Given the description of an element on the screen output the (x, y) to click on. 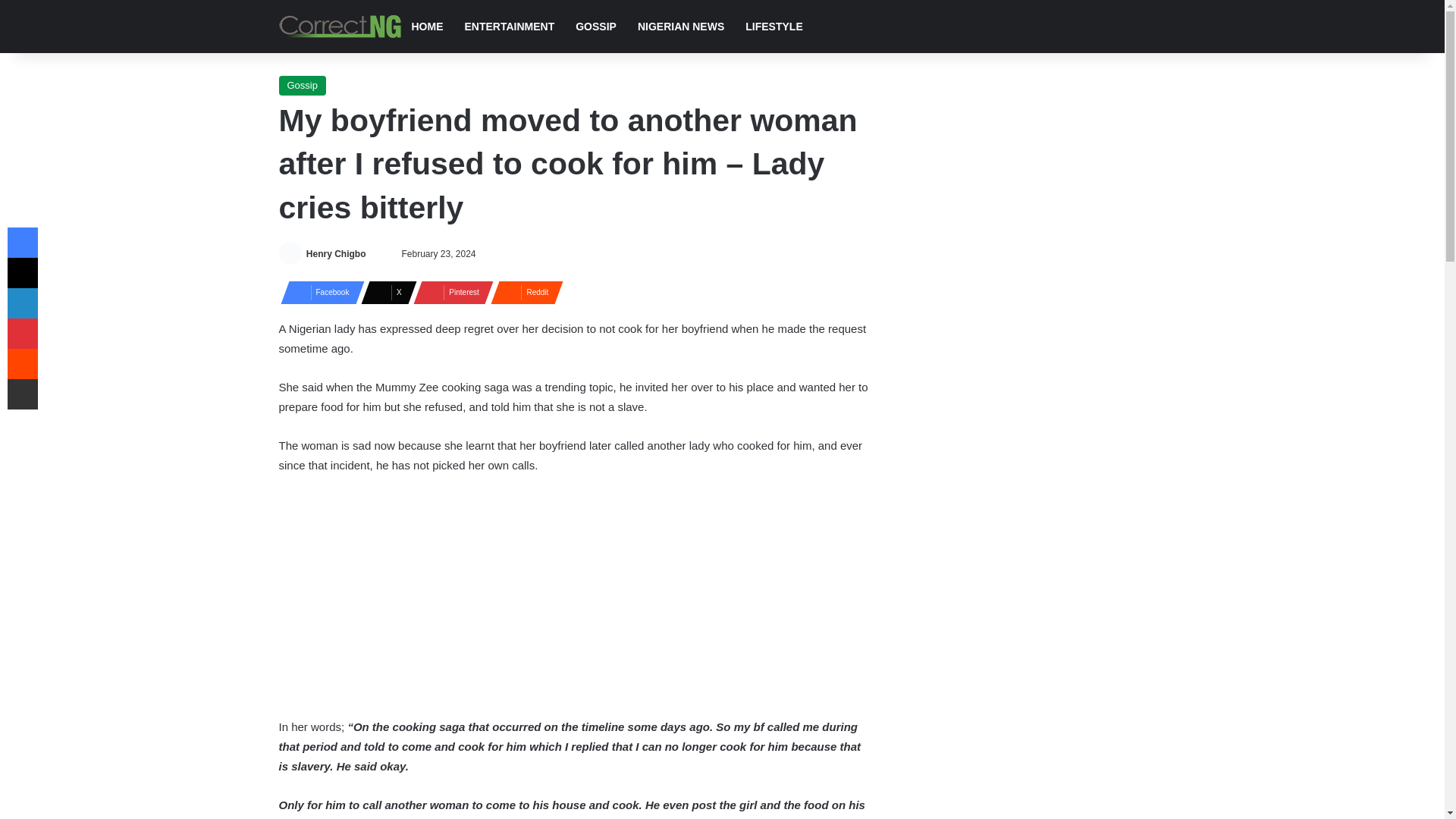
X (384, 291)
Reddit (522, 291)
Facebook (318, 291)
Henry Chigbo (335, 253)
GOSSIP (595, 26)
Henry Chigbo (335, 253)
Pinterest (448, 291)
Gossip (302, 85)
X (384, 291)
NIGERIAN NEWS (681, 26)
ENTERTAINMENT (508, 26)
CorrectNG (340, 26)
Facebook (318, 291)
LIFESTYLE (773, 26)
HOME (426, 26)
